Given the description of an element on the screen output the (x, y) to click on. 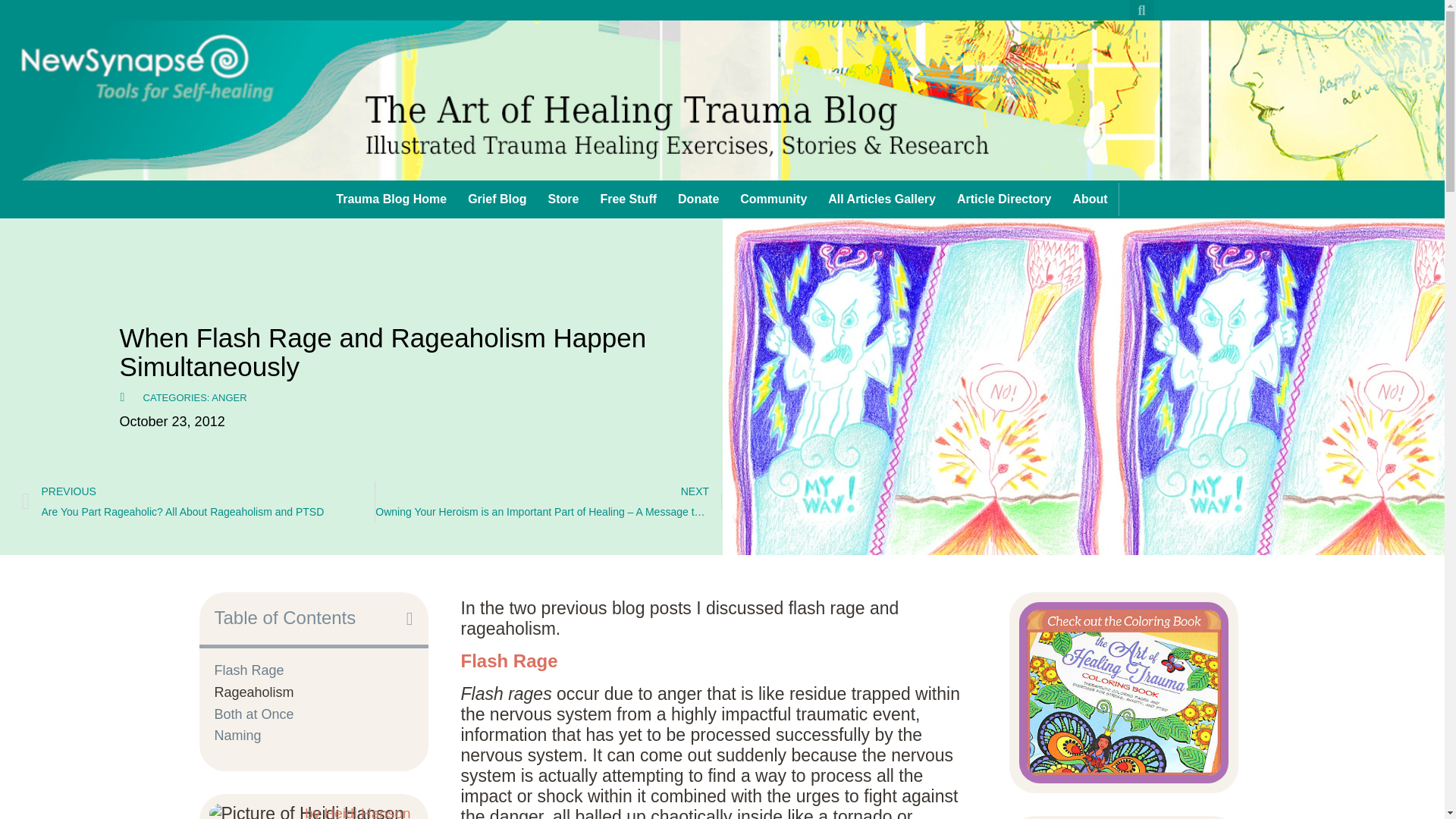
Flash Rage (248, 670)
All Articles Gallery (881, 199)
Store (563, 199)
About (1089, 199)
Free Stuff (627, 199)
Rageaholism (254, 693)
ANGER (228, 397)
Article Directory (1004, 199)
Trauma Blog Home (390, 199)
Both at Once (254, 714)
Naming (237, 735)
Grief Blog (497, 199)
Community (772, 199)
Donate (697, 199)
Click here (164, 87)
